Given the description of an element on the screen output the (x, y) to click on. 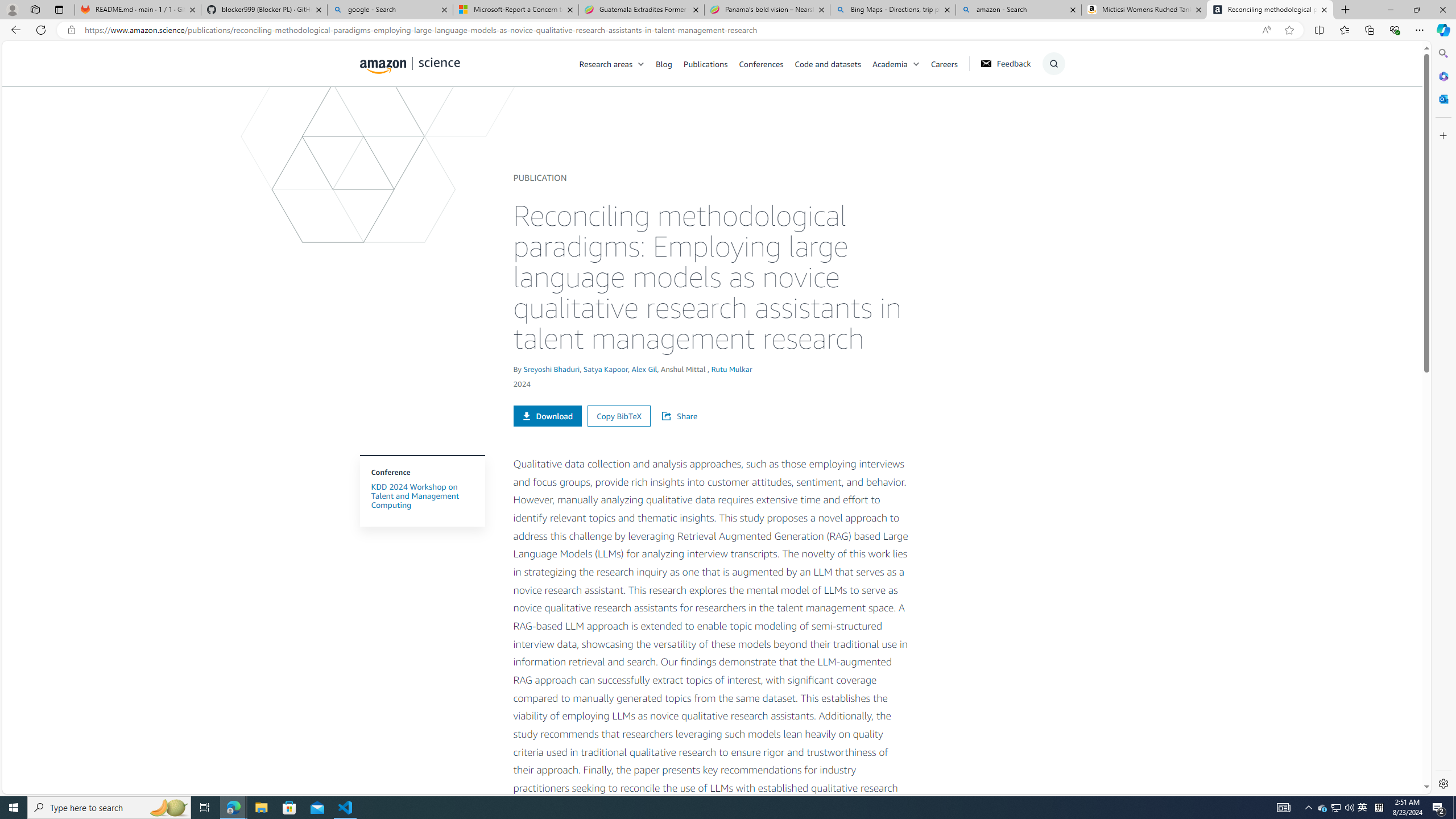
amazon - Search (1018, 9)
Conferences (766, 63)
Alex Gil (644, 368)
Academia (901, 63)
home page (409, 62)
Code and datasets (833, 63)
